Given the description of an element on the screen output the (x, y) to click on. 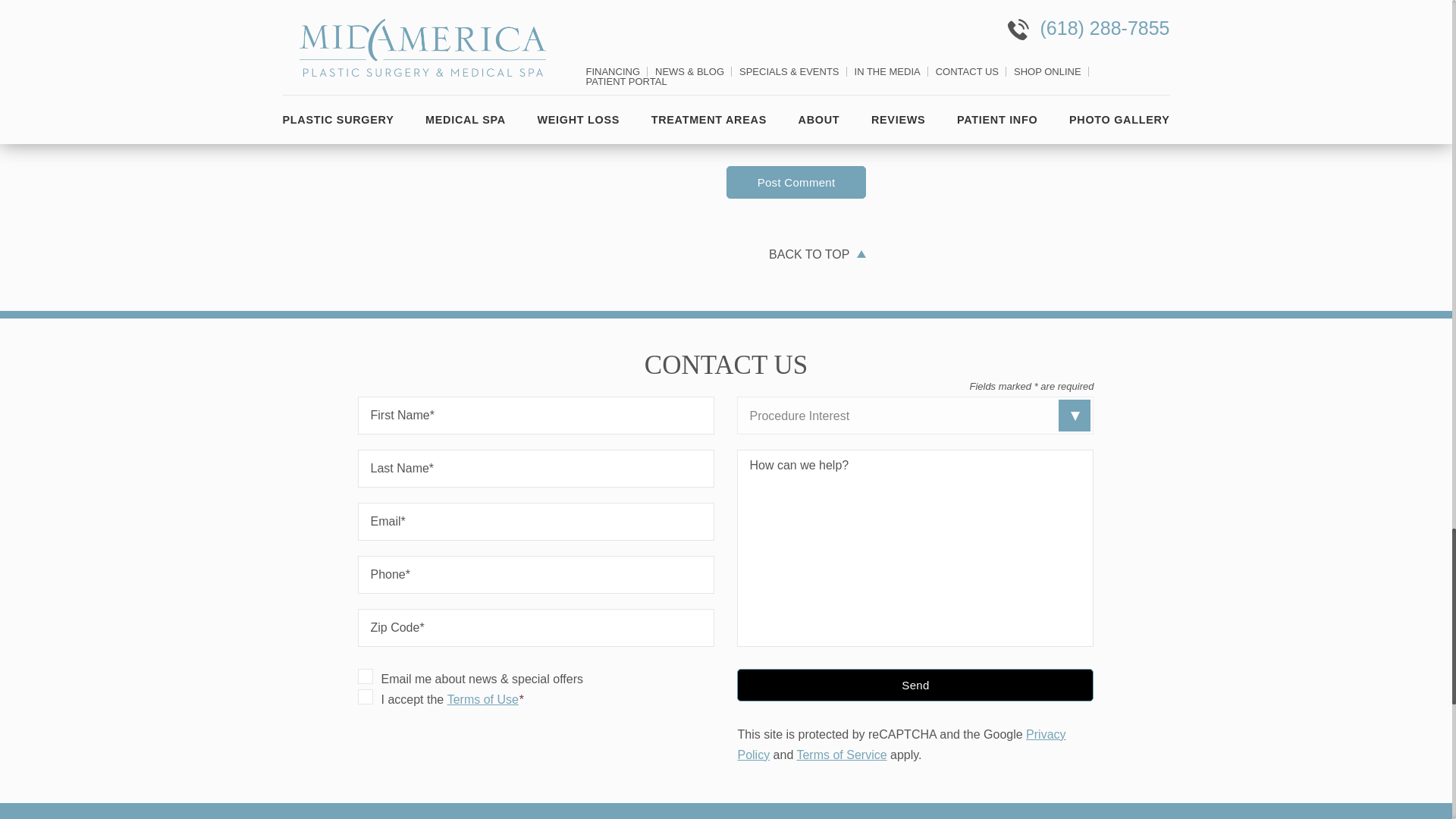
Post Comment (796, 182)
yes (363, 135)
BACK TO TOP (810, 254)
checked (365, 696)
checked (365, 676)
